Given the description of an element on the screen output the (x, y) to click on. 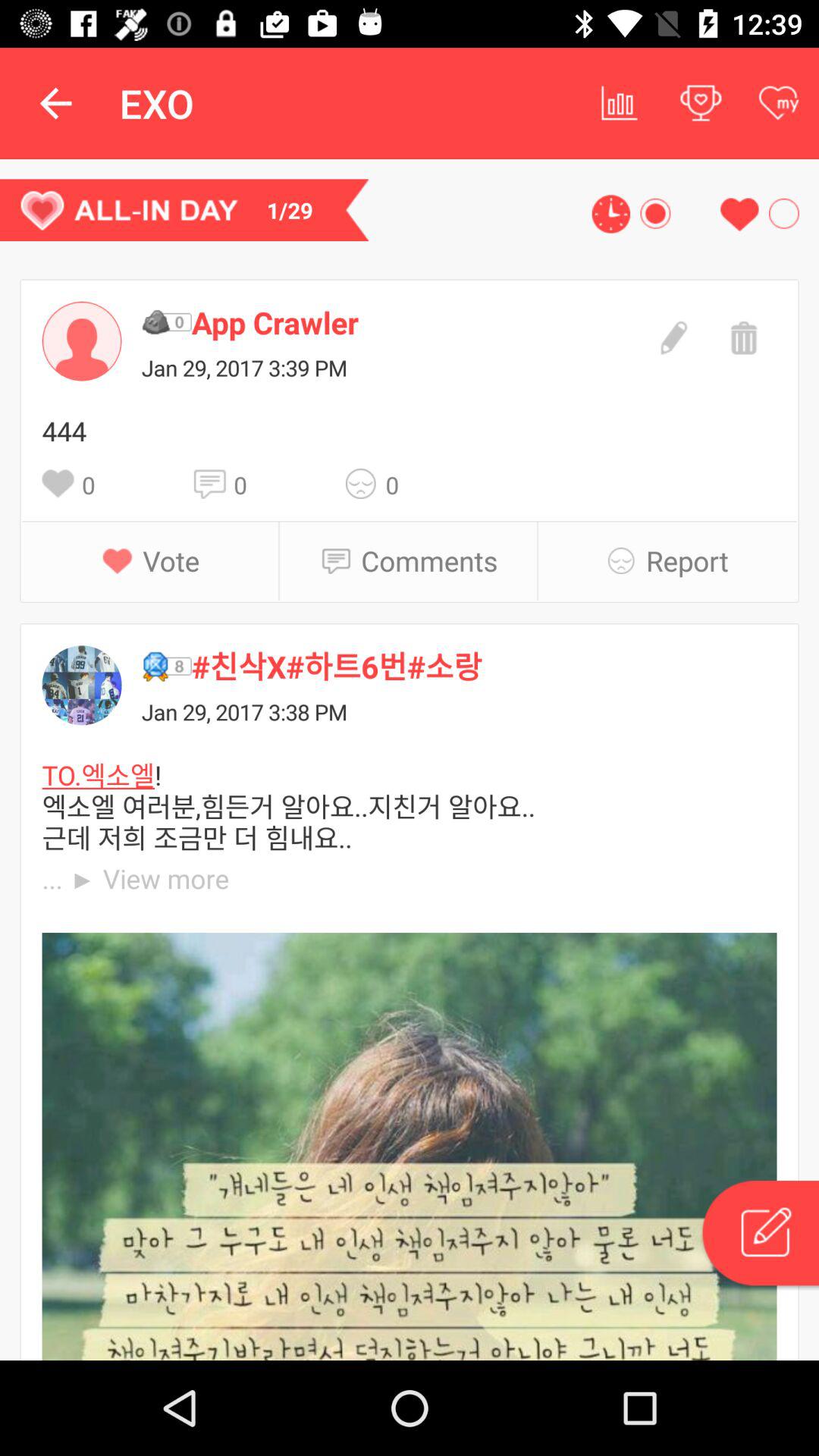
delete entry (741, 336)
